Given the description of an element on the screen output the (x, y) to click on. 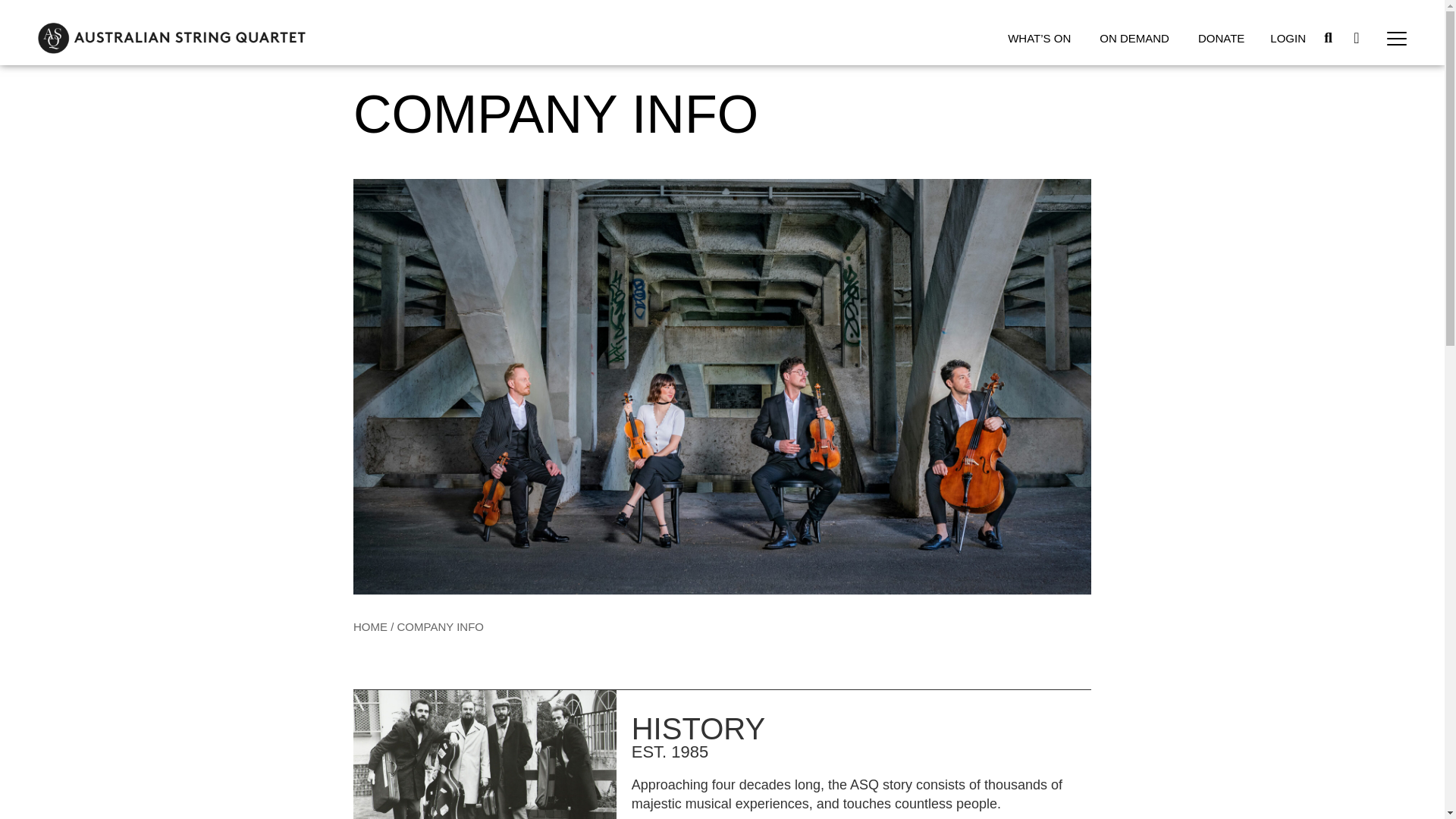
Login (1287, 38)
ON DEMAND (1133, 38)
DONATE (1221, 38)
LOGIN (1287, 38)
